Given the description of an element on the screen output the (x, y) to click on. 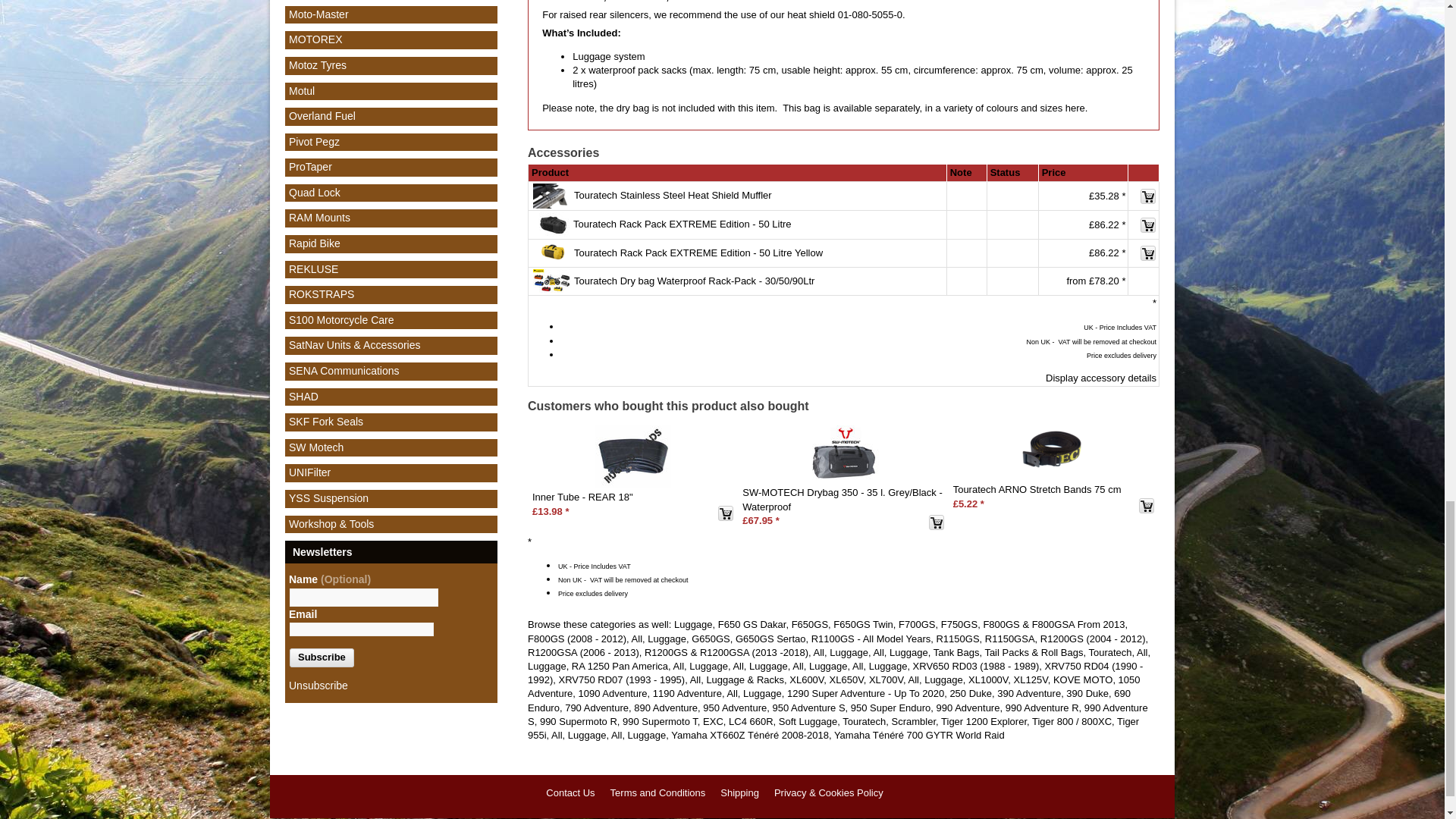
In stock (1011, 224)
Out Of Stock (1011, 196)
Add to basket (1148, 224)
Add to basket (935, 522)
Touratech ARNO Stretch Bands 75 cm (1054, 452)
Add to basket (1148, 253)
Add to basket (1146, 505)
In stock (1011, 254)
Add to basket (725, 513)
Inner Tube - REAR 18" (633, 456)
